Given the description of an element on the screen output the (x, y) to click on. 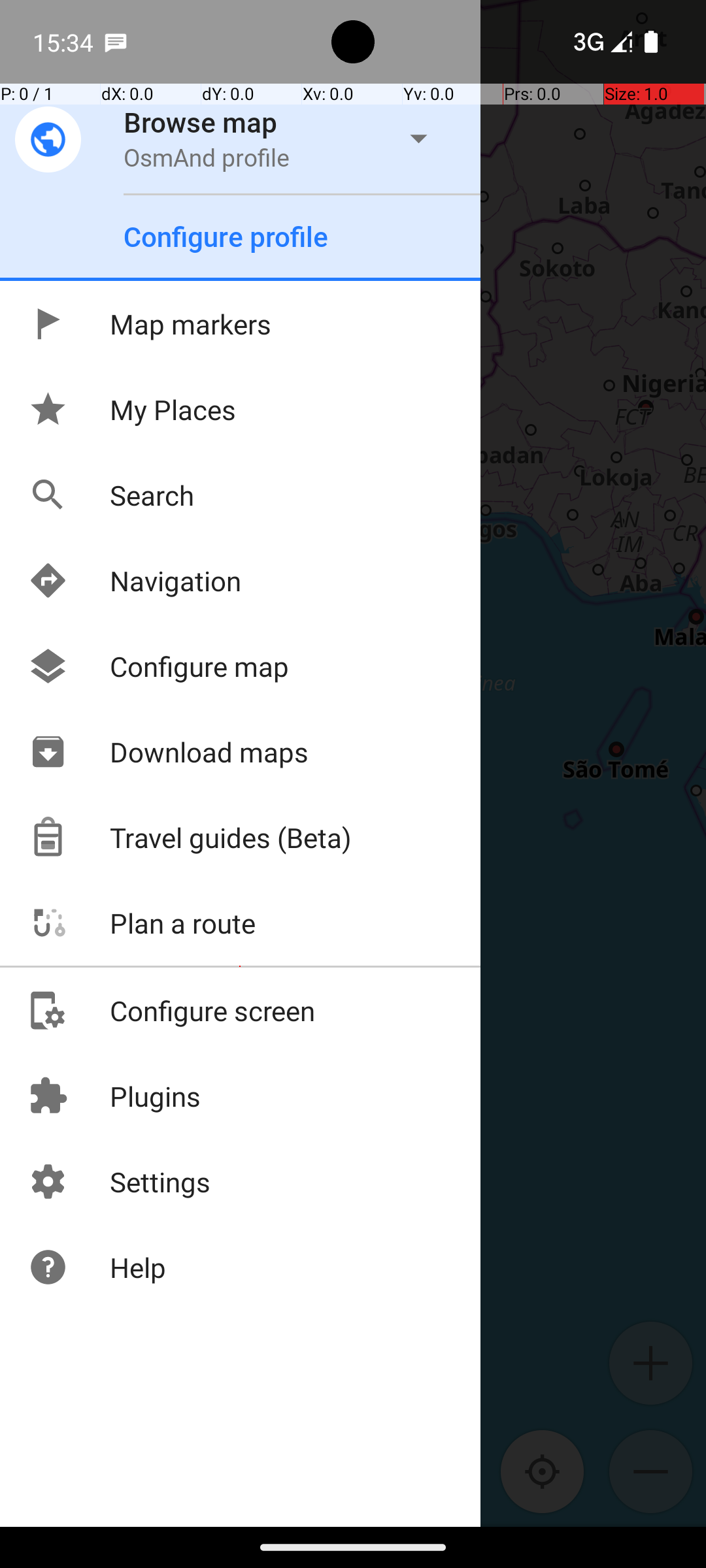
Browse map Element type: android.widget.TextView (200, 121)
OsmAnd profile Element type: android.widget.TextView (206, 156)
Configure profile Element type: android.widget.TextView (225, 235)
Map markers Element type: android.widget.TextView (149, 323)
My Places Element type: android.widget.TextView (131, 409)
Navigation Element type: android.widget.TextView (134, 580)
Download maps Element type: android.widget.TextView (168, 751)
Travel guides (Beta) Element type: android.widget.TextView (189, 837)
Plan a route Element type: android.widget.TextView (141, 922)
Configure screen Element type: android.widget.TextView (171, 1010)
Plugins Element type: android.widget.TextView (114, 1095)
